Given the description of an element on the screen output the (x, y) to click on. 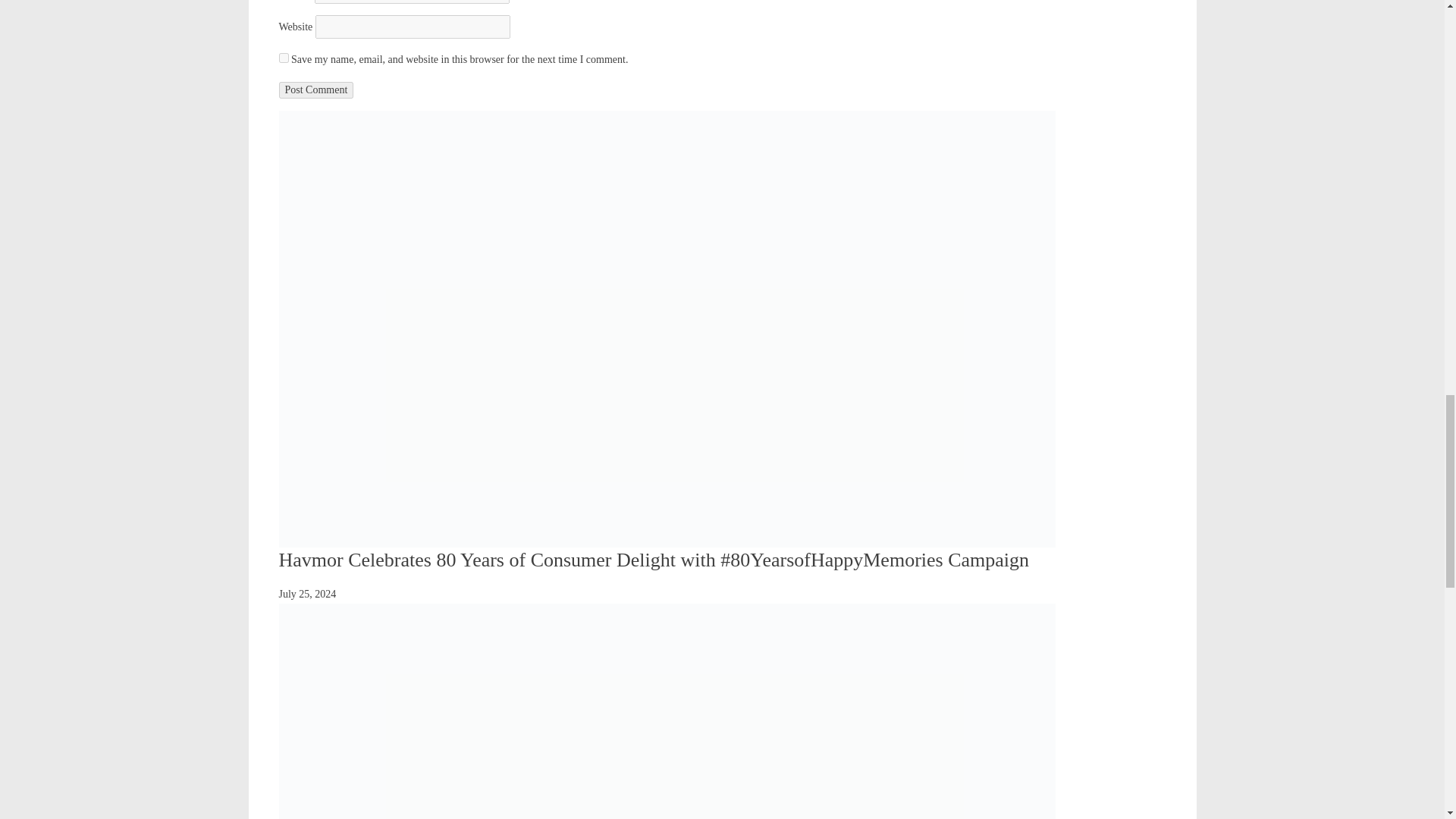
yes (283, 58)
Post Comment (316, 89)
Post Comment (316, 89)
